Given the description of an element on the screen output the (x, y) to click on. 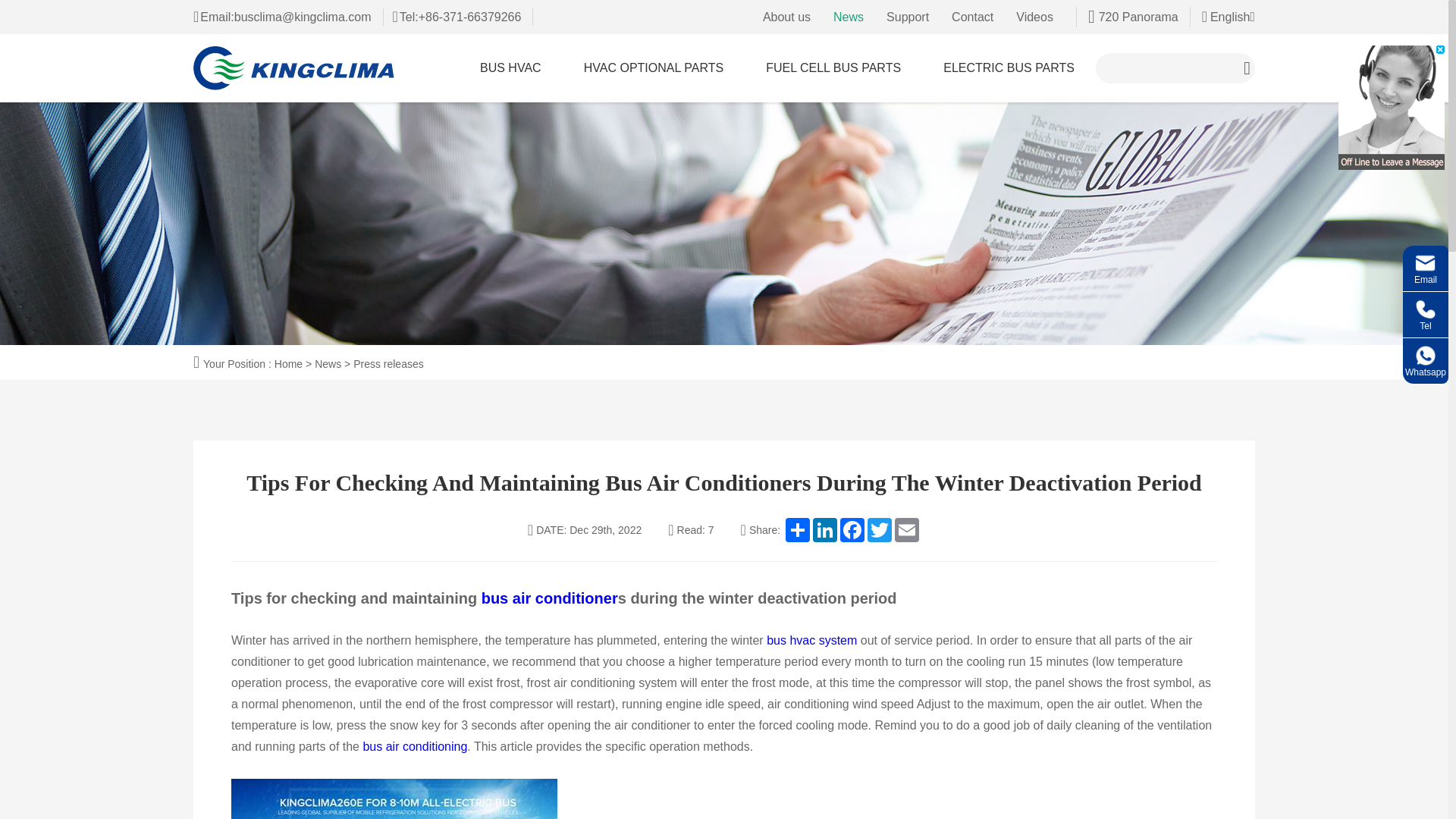
Contact (972, 17)
Videos (1034, 17)
Hvac OPTIONAL parts (653, 68)
BUS HVAC (510, 68)
HVAC OPTIONAL PARTS (653, 68)
Bus HVAC (510, 68)
FUEL CELL BUS PARTS (833, 68)
Fuel Cell Bus Parts (833, 68)
720 Panorama (1132, 16)
Support (907, 17)
ELECTRIC BUS PARTS (1008, 68)
About us (786, 17)
Electric Bus Parts (1008, 68)
News (847, 17)
